Given the description of an element on the screen output the (x, y) to click on. 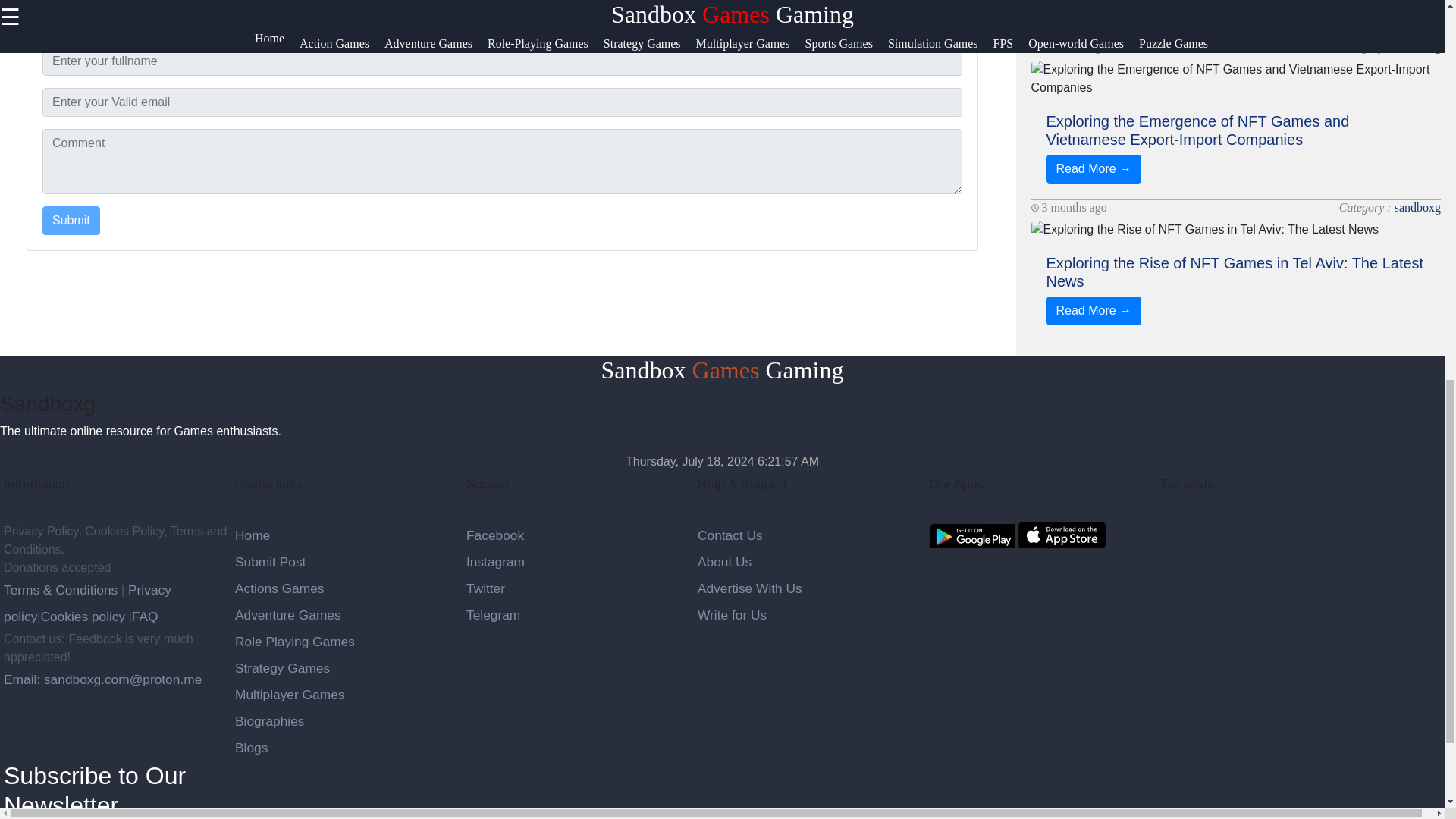
Submit (71, 220)
